Given the description of an element on the screen output the (x, y) to click on. 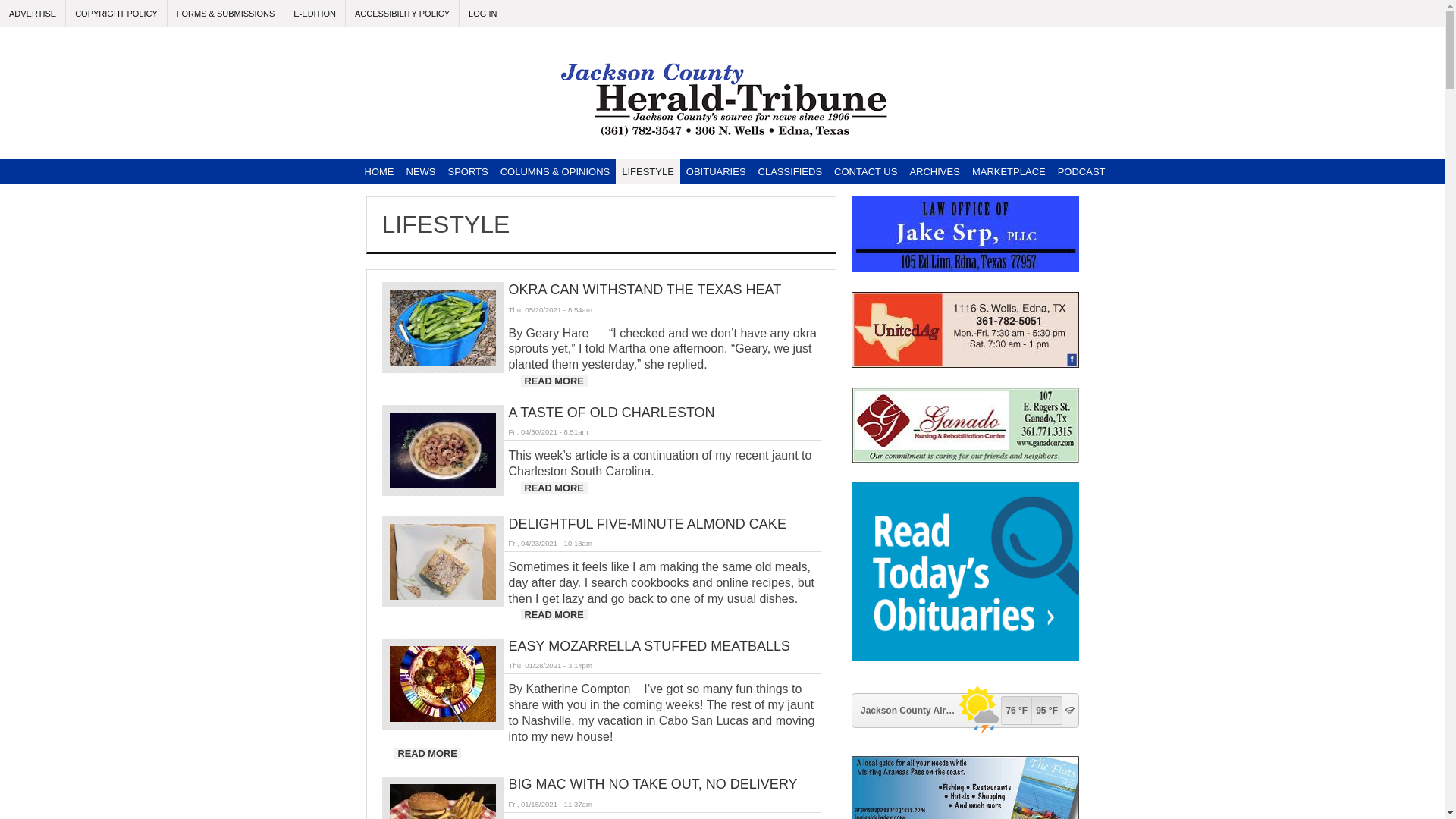
CONTACT US (865, 171)
Okra can withstand the Texas heat (552, 380)
OBITUARIES (715, 171)
CLASSIFIEDS (790, 171)
LIFESTYLE (647, 171)
Link to e-Edition. (314, 13)
ACCESSIBILITY POLICY (552, 380)
NEWS (403, 13)
Americans with Disabilities Act Compliance Statement (421, 171)
Log In (403, 13)
Sports (482, 13)
News (467, 171)
